Given the description of an element on the screen output the (x, y) to click on. 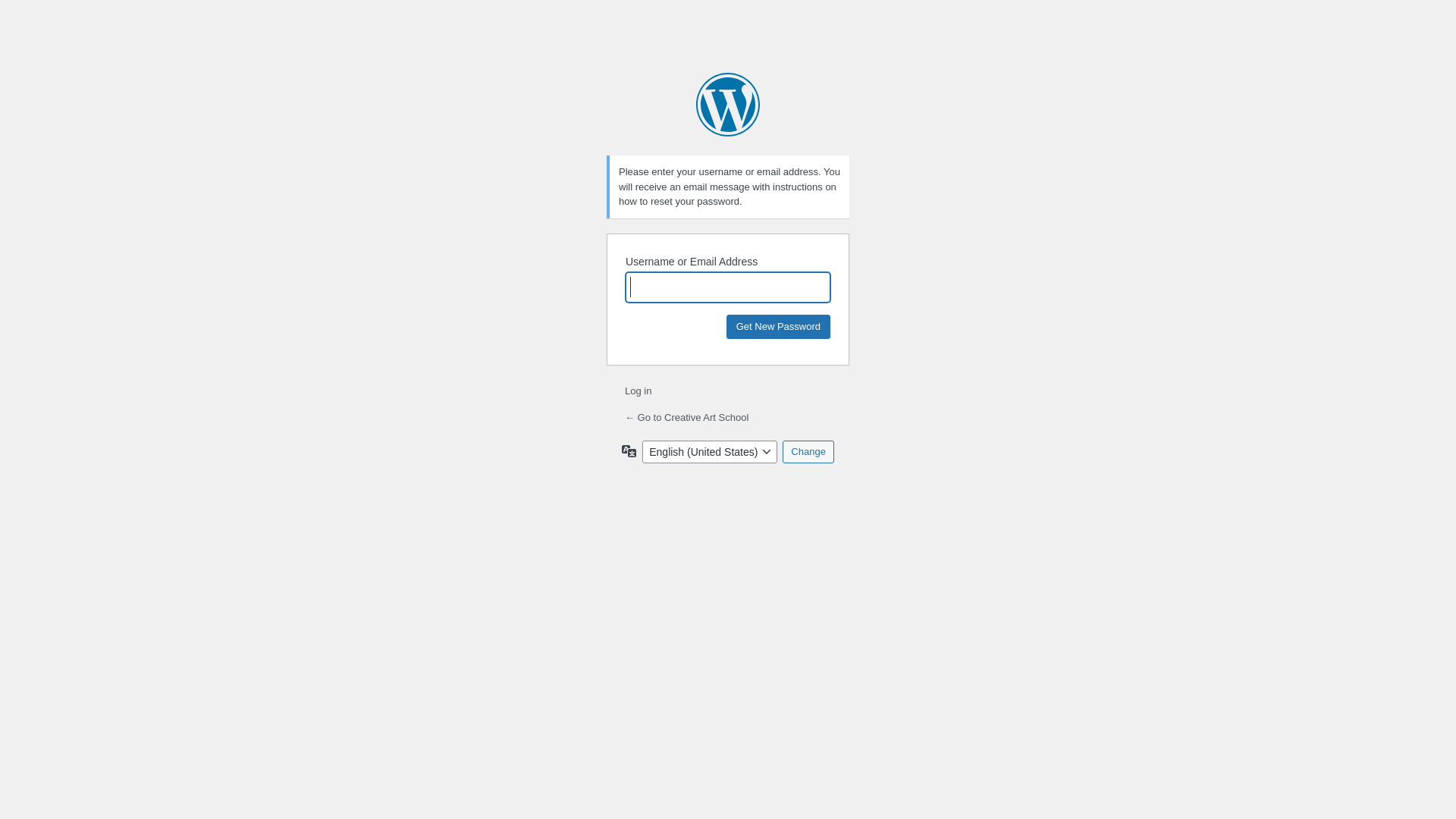
Log in Element type: text (637, 390)
Powered by WordPress Element type: text (727, 104)
Get New Password Element type: text (778, 325)
Change Element type: text (808, 450)
